Given the description of an element on the screen output the (x, y) to click on. 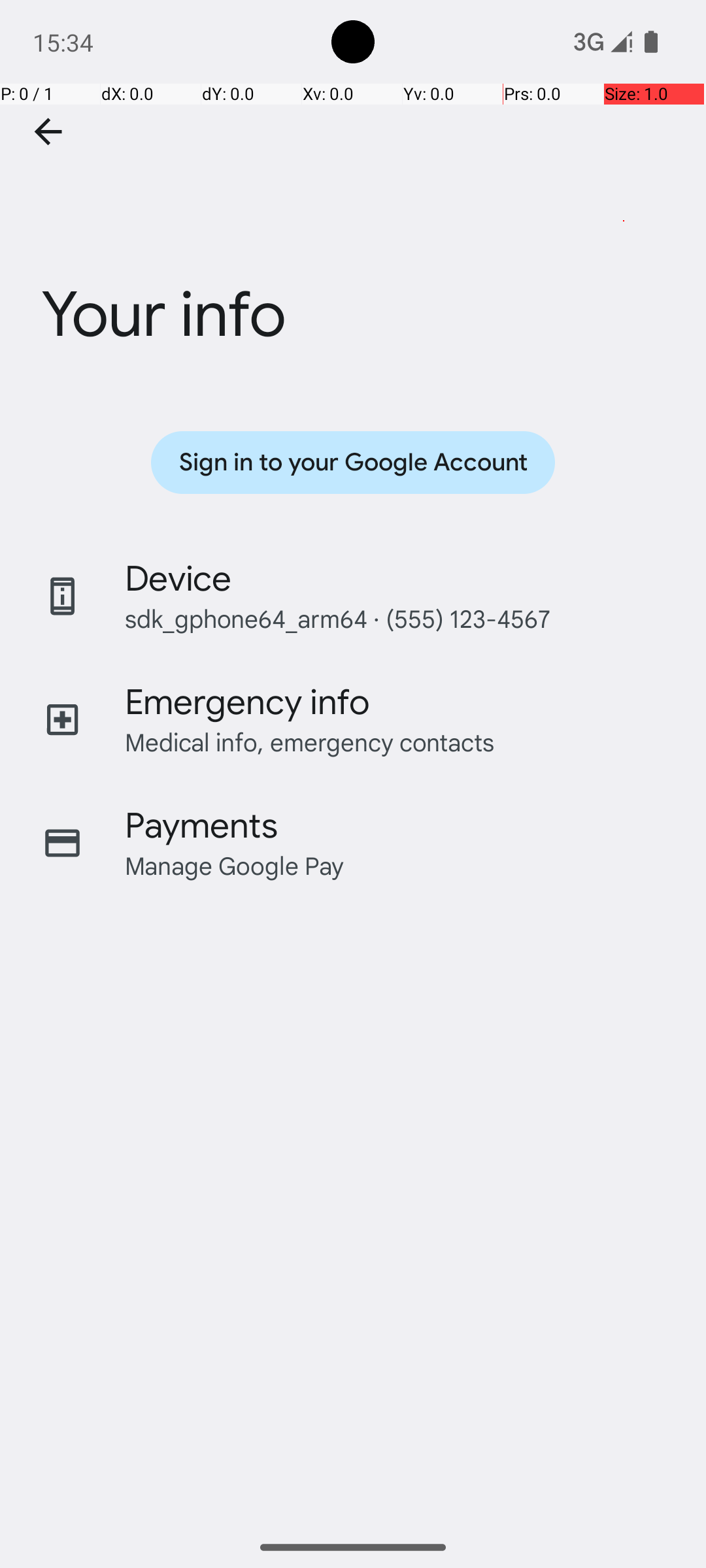
Your info Element type: android.widget.FrameLayout (353, 236)
Sign in to your Google Account Element type: android.widget.Button (352, 462)
Device Element type: android.widget.TextView (178, 578)
sdk_gphone64_arm64 · (555) 123-4567 Element type: android.widget.TextView (337, 618)
Emergency info Element type: android.widget.TextView (246, 702)
Medical info, emergency contacts Element type: android.widget.TextView (309, 741)
Payments Element type: android.widget.TextView (200, 825)
Manage Google Pay Element type: android.widget.TextView (234, 865)
